Given the description of an element on the screen output the (x, y) to click on. 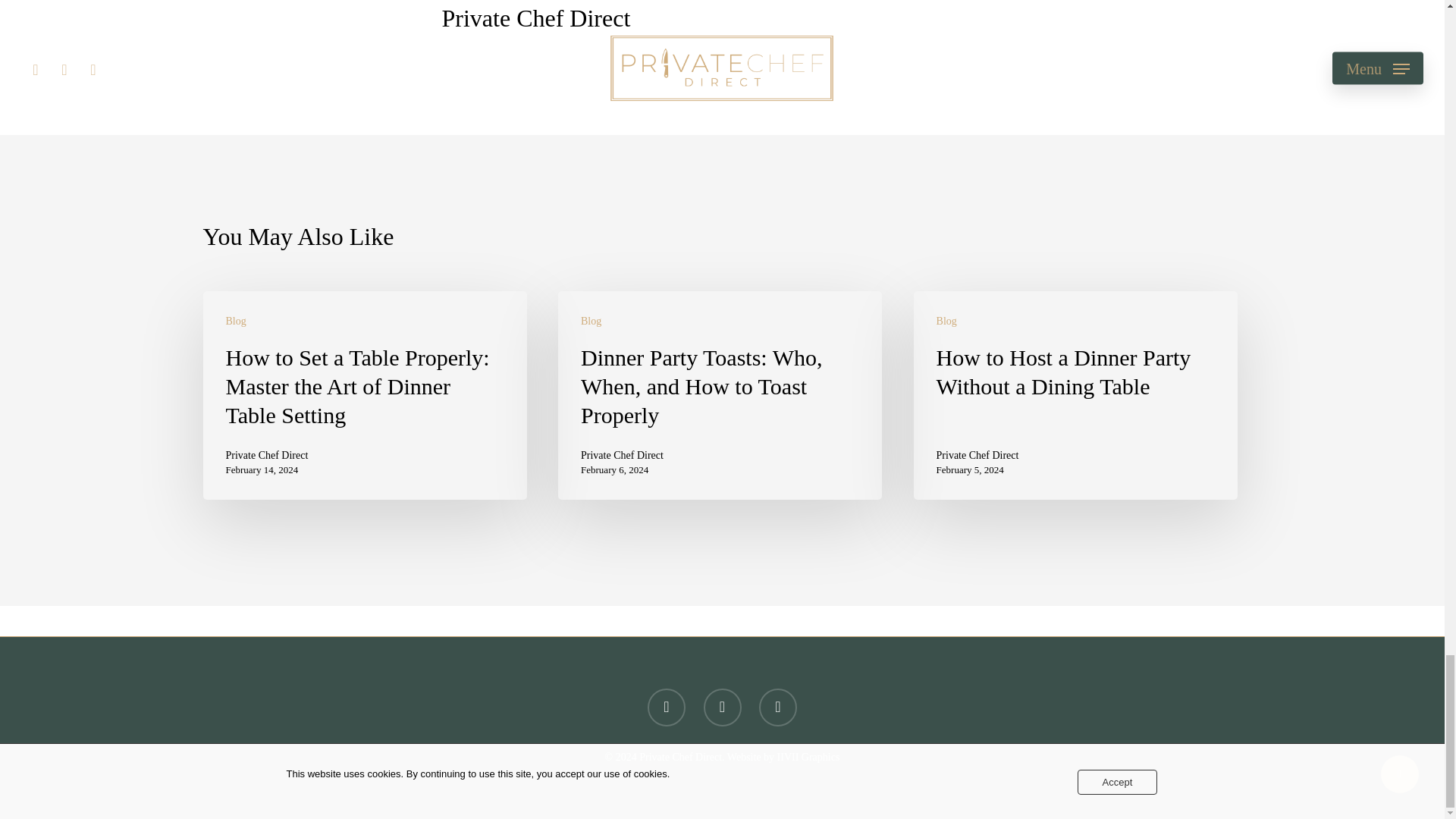
Private Chef Direct (621, 455)
Blog (946, 320)
Private Chef Direct (535, 17)
Blog (235, 320)
Private Chef Direct (266, 455)
Private Chef Direct (977, 455)
Blog (590, 320)
